Given the description of an element on the screen output the (x, y) to click on. 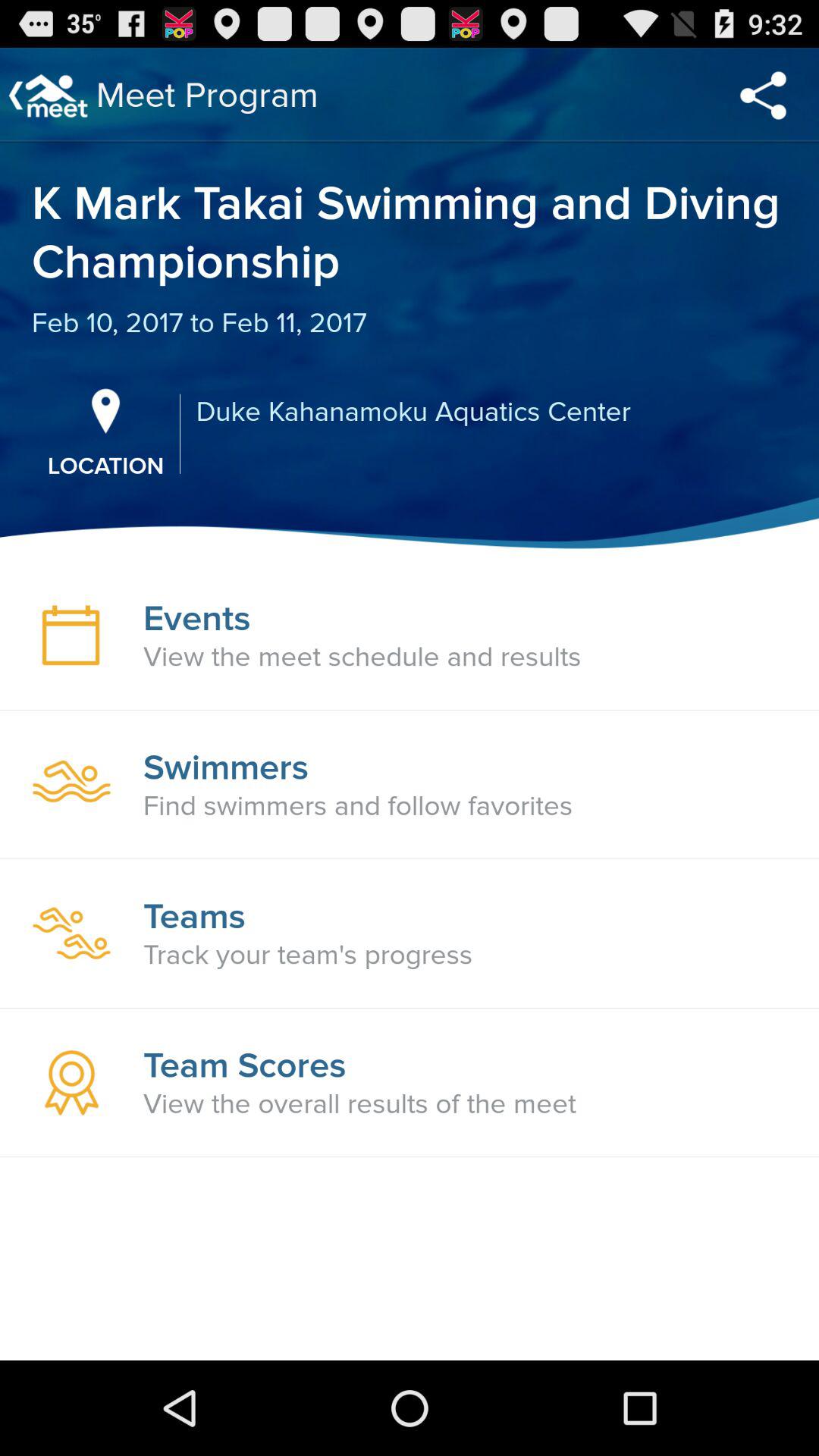
turn off icon below the teams (307, 954)
